Given the description of an element on the screen output the (x, y) to click on. 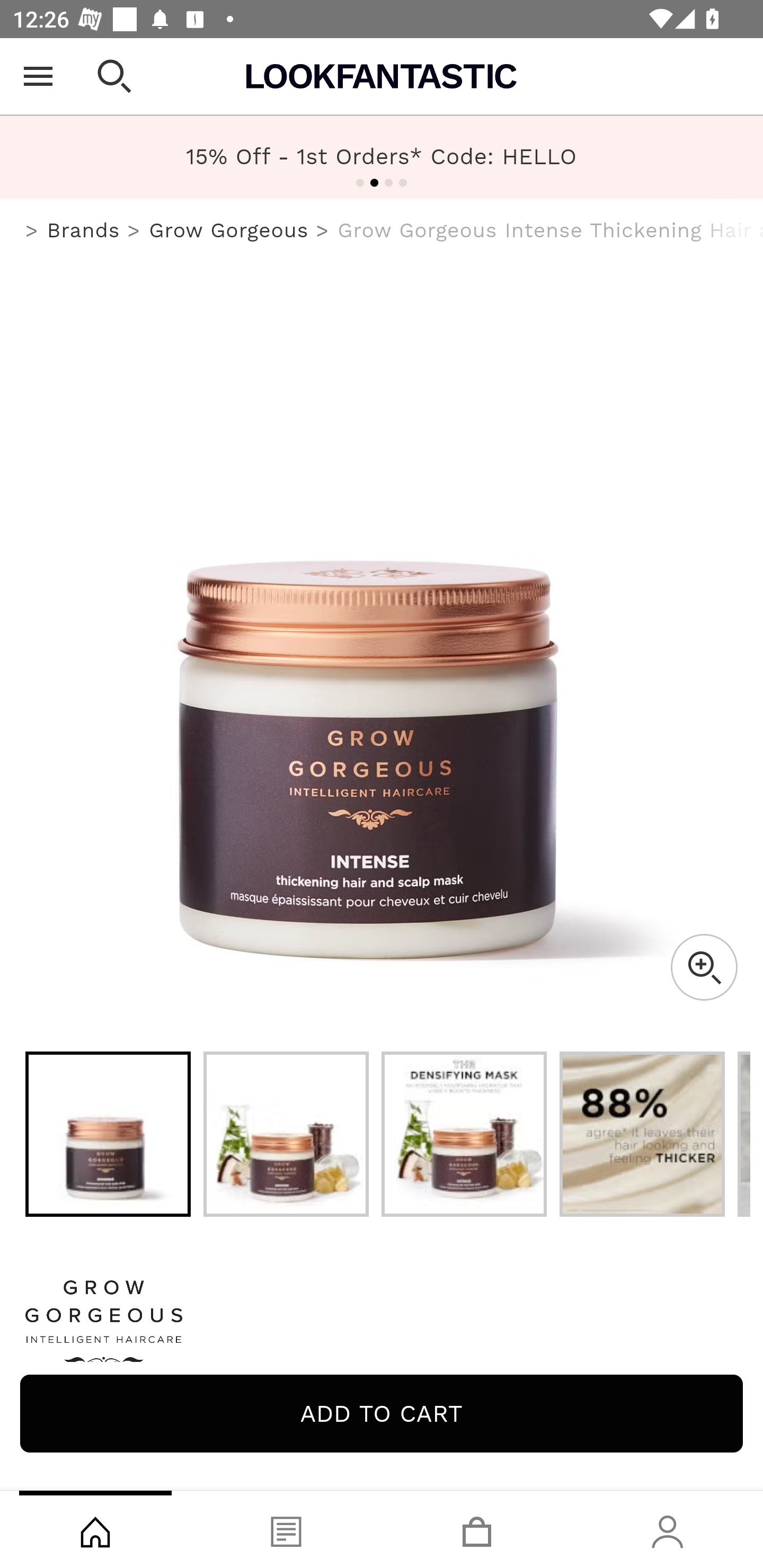
Open Menu (38, 75)
Open search (114, 75)
Lookfantastic USA (381, 75)
us.lookfantastic (32, 230)
Brands (82, 230)
Grow Gorgeous (228, 230)
Zoom (703, 966)
Grow Gorgeous (381, 1327)
Add to cart (381, 1413)
Shop, tab, 1 of 4 (95, 1529)
Blog, tab, 2 of 4 (285, 1529)
Basket, tab, 3 of 4 (476, 1529)
Account, tab, 4 of 4 (667, 1529)
